Given the description of an element on the screen output the (x, y) to click on. 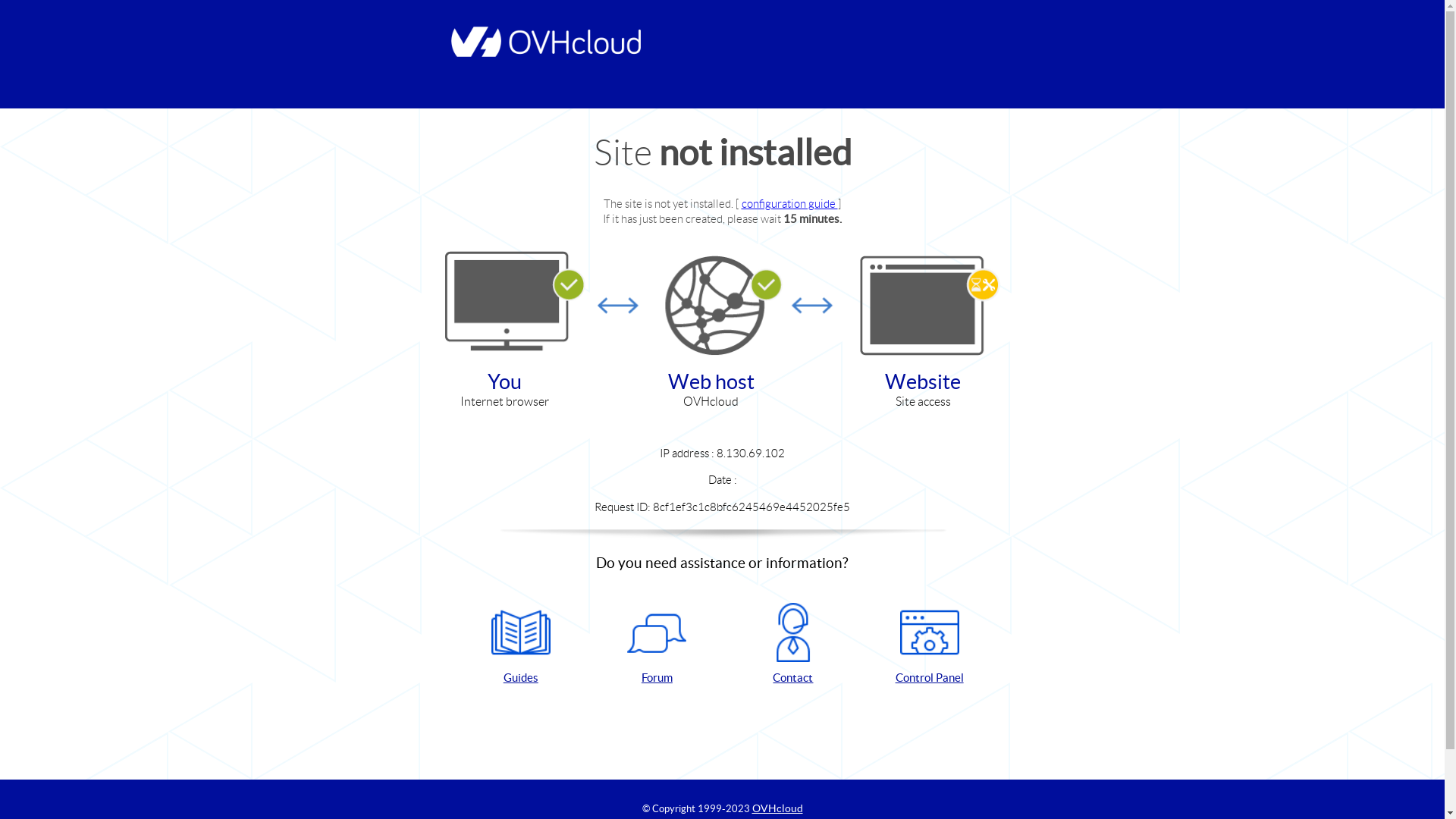
Control Panel Element type: text (929, 644)
Contact Element type: text (792, 644)
OVHcloud Element type: text (777, 808)
configuration guide Element type: text (789, 203)
Guides Element type: text (520, 644)
Forum Element type: text (656, 644)
